Given the description of an element on the screen output the (x, y) to click on. 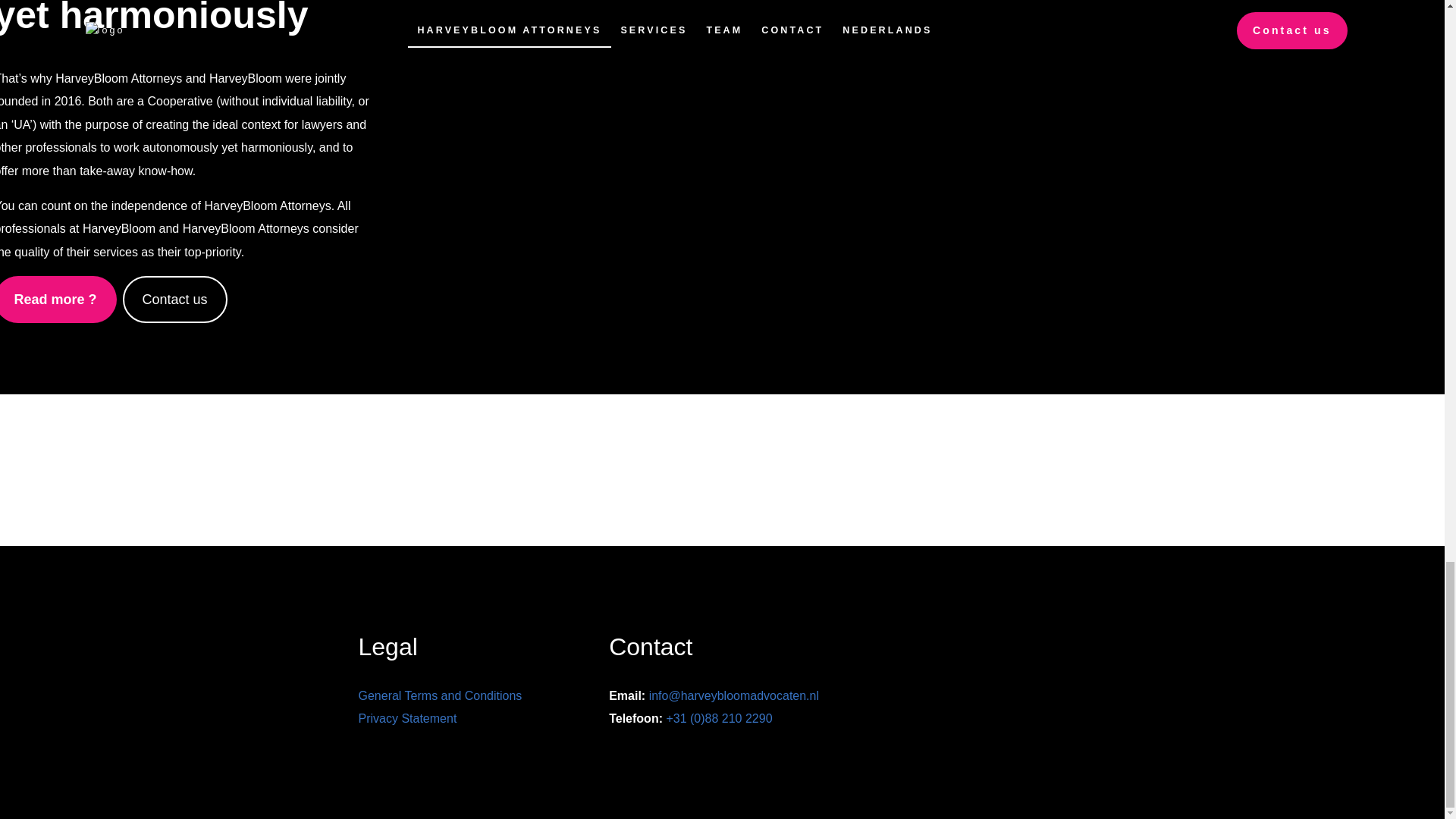
Read more ? (58, 299)
Contact us (174, 299)
General Terms and Conditions (439, 695)
Privacy Statement (407, 717)
